Given the description of an element on the screen output the (x, y) to click on. 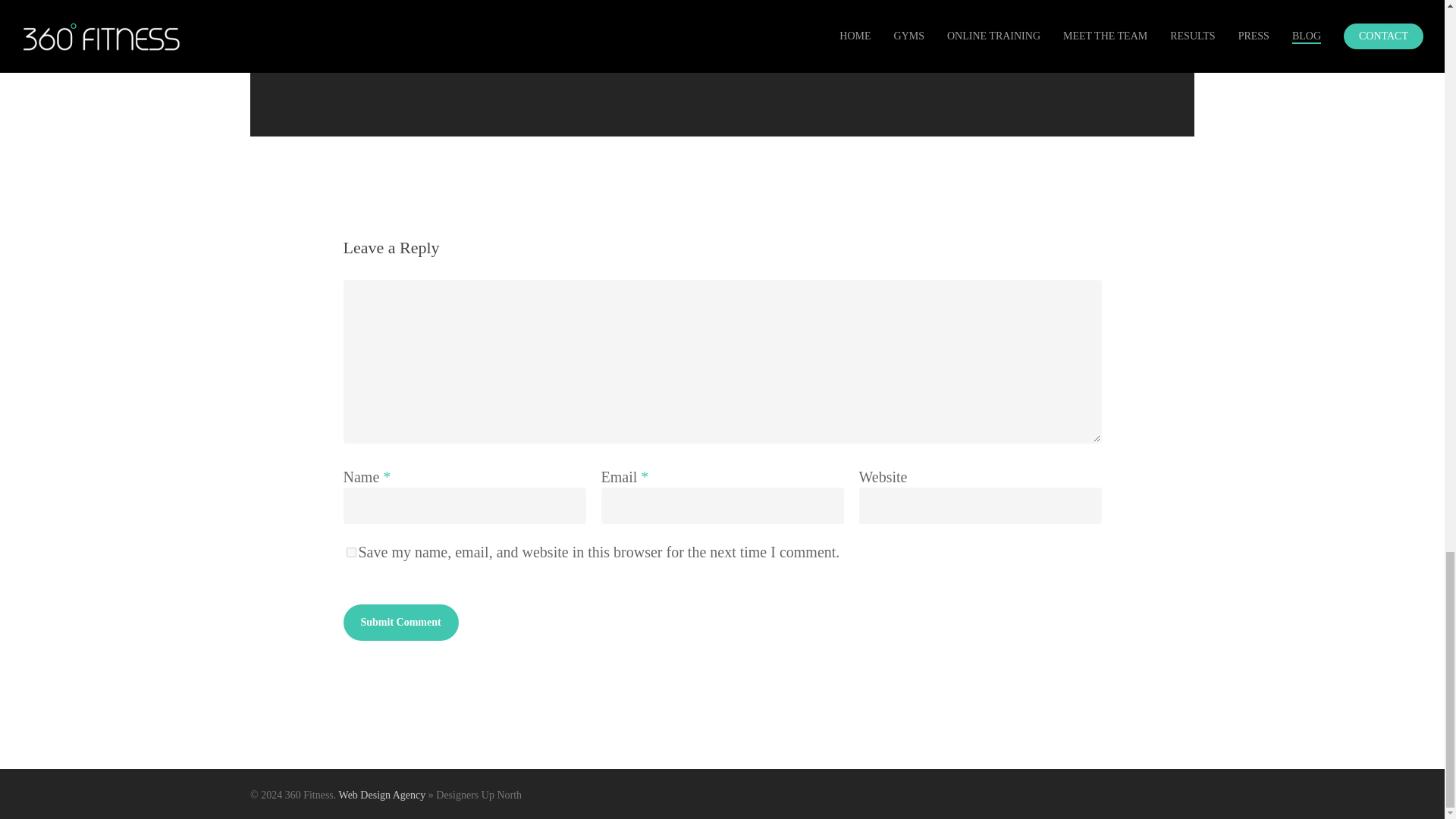
yes (350, 552)
Submit Comment (400, 622)
Web Design Agency (382, 794)
Submit Comment (400, 622)
